Given the description of an element on the screen output the (x, y) to click on. 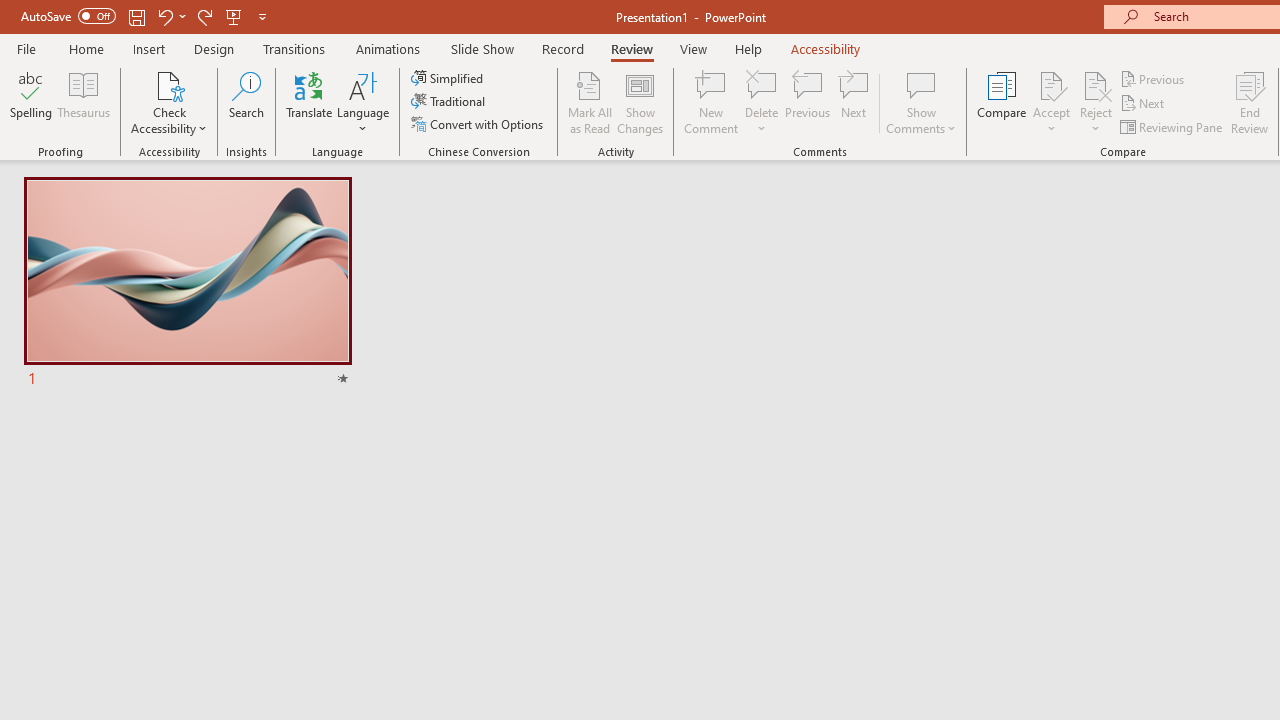
Translate (309, 102)
Mark All as Read (589, 102)
Next (1144, 103)
New Comment (711, 102)
End Review (1249, 102)
Reject Change (1096, 84)
Delete (762, 102)
Slide (187, 284)
